Given the description of an element on the screen output the (x, y) to click on. 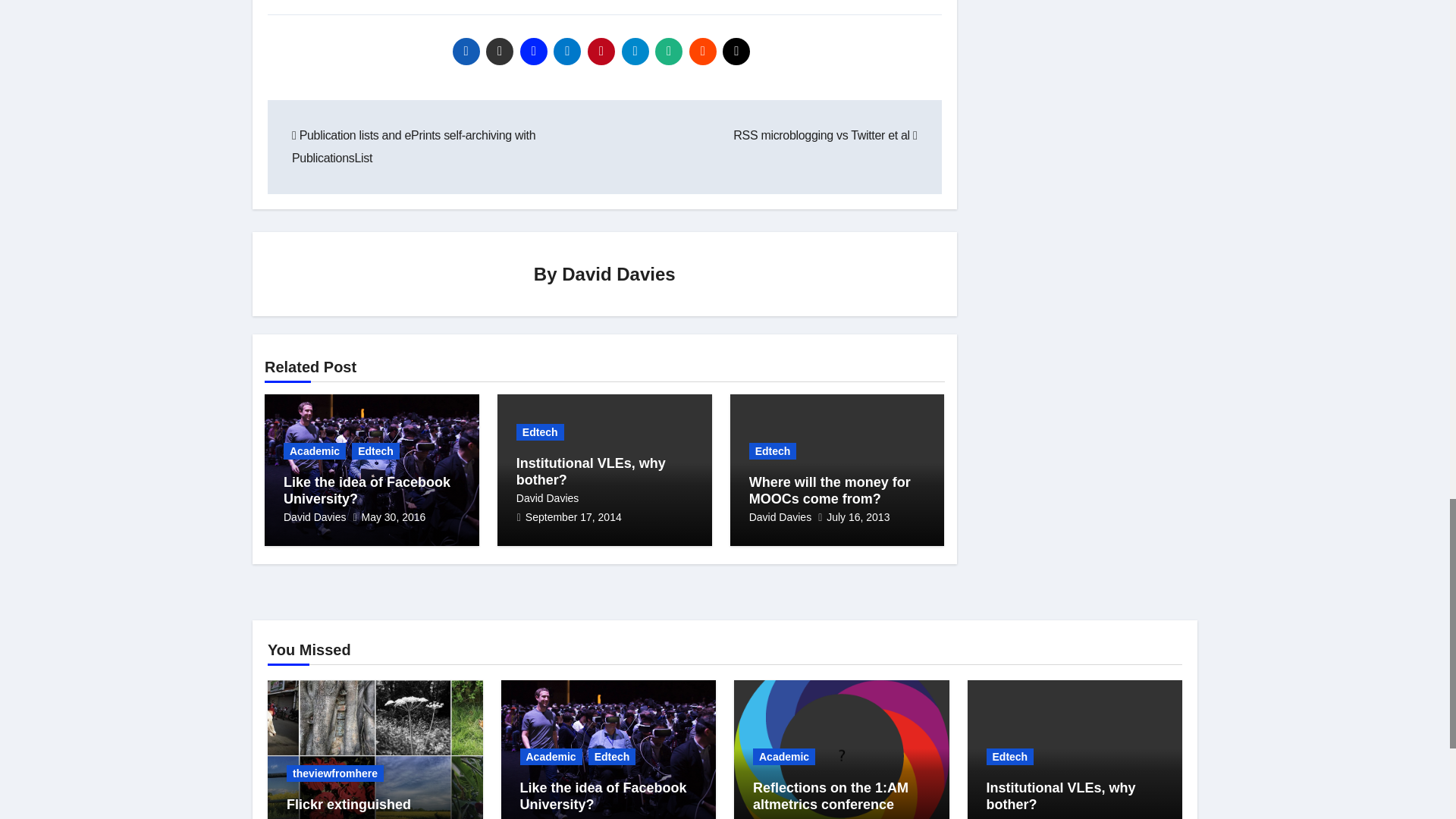
Permalink to: Institutional VLEs, why bother? (590, 471)
David Davies (618, 273)
RSS microblogging vs Twitter et al (825, 134)
Permalink to: Institutional VLEs, why bother? (1060, 796)
Permalink to: Flickr extinguished (348, 804)
Edtech (375, 451)
Academic (314, 451)
Permalink to: Like the idea of Facebook University? (366, 490)
Permalink to: Where will the money for MOOCs come from? (830, 490)
Permalink to: Reflections on the 1:AM altmetrics conference (830, 796)
Permalink to: Like the idea of Facebook University? (603, 796)
